Given the description of an element on the screen output the (x, y) to click on. 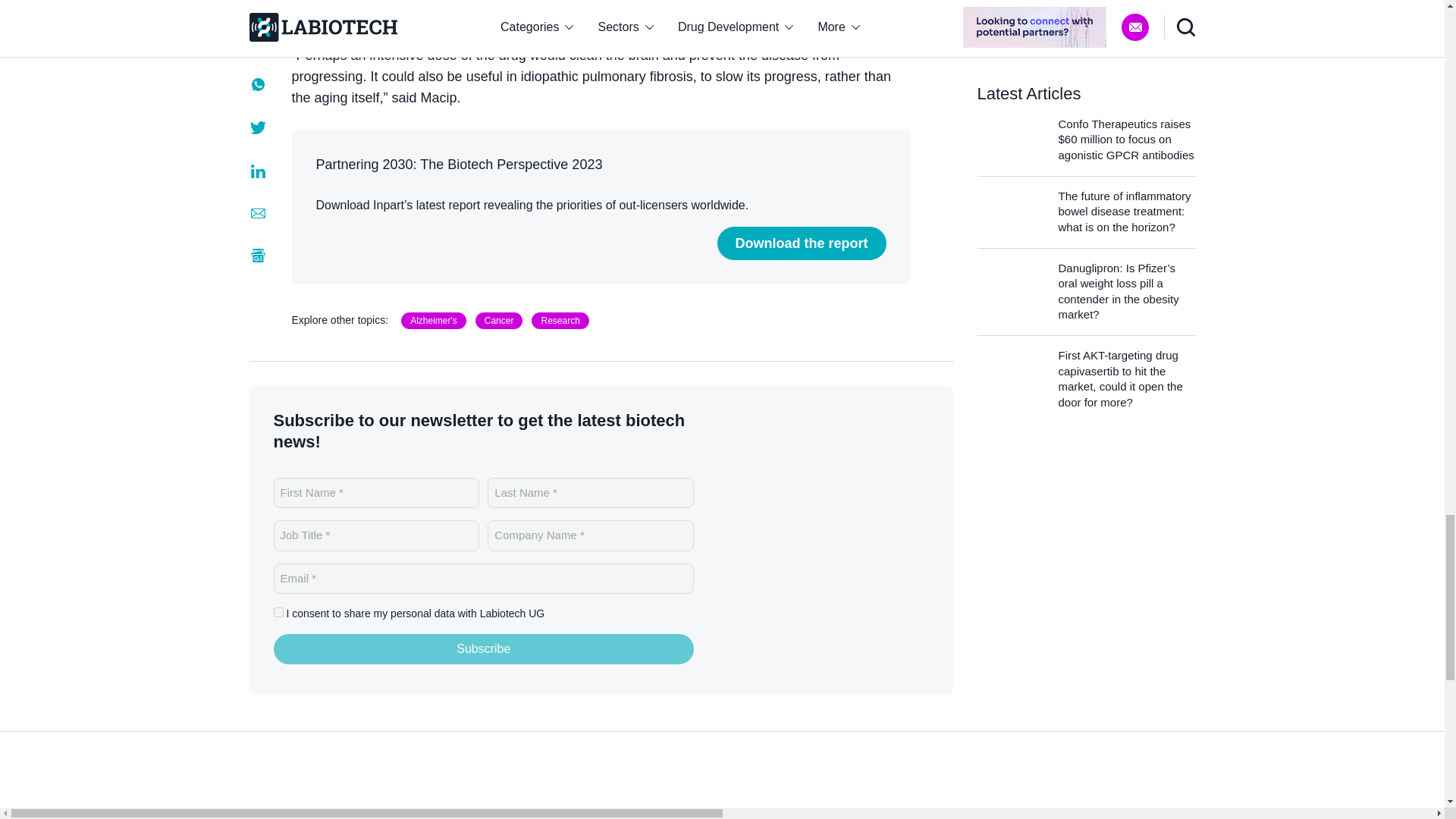
1 (277, 612)
Subscribe (483, 648)
Labiotech.eu (309, 799)
